Given the description of an element on the screen output the (x, y) to click on. 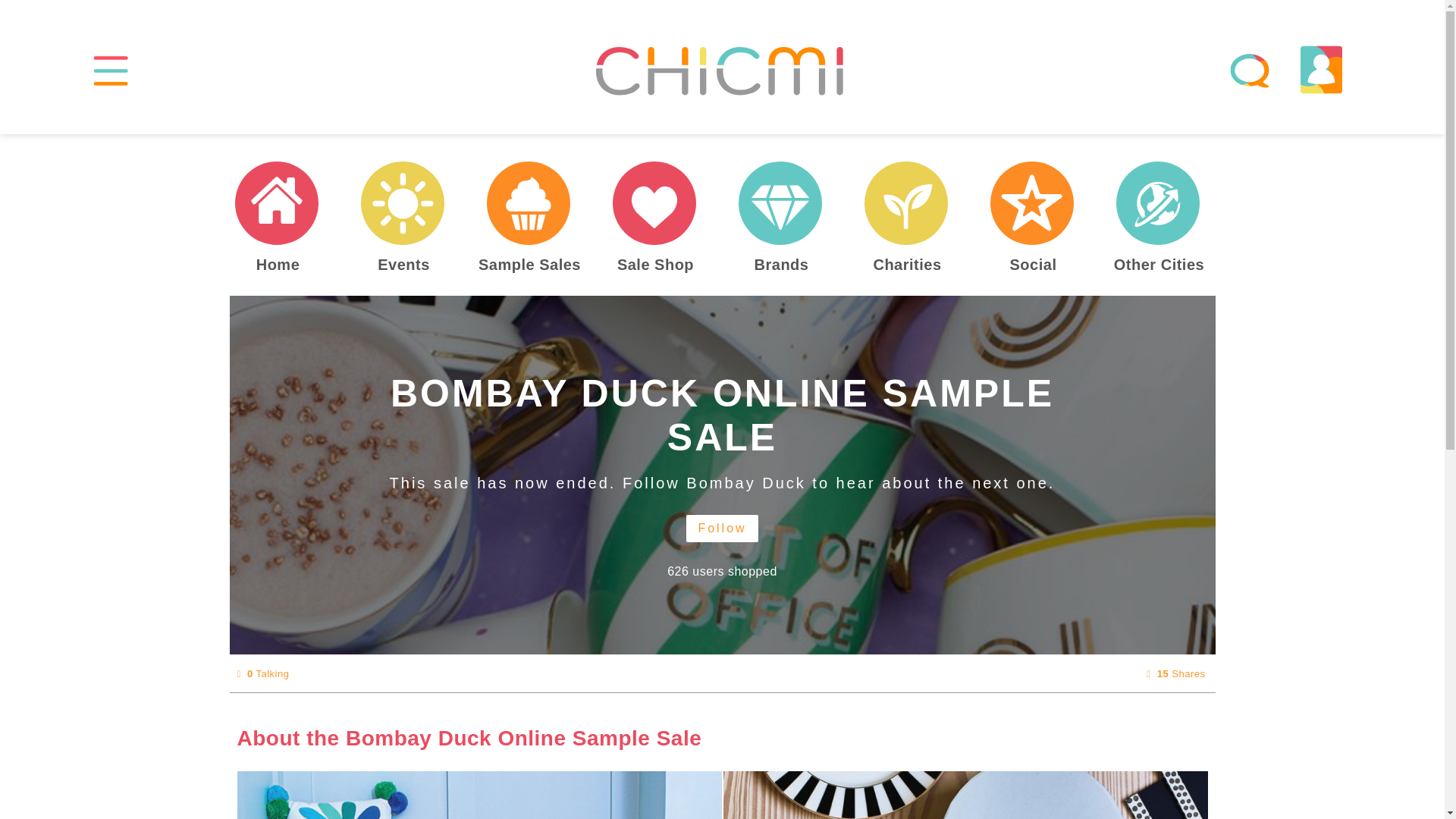
Sample Sales (529, 202)
Follow (721, 528)
Your CHICMI Chats (1249, 70)
Events (404, 265)
Charities (906, 202)
Social (1033, 265)
Brands (781, 265)
CHICMI main menu (110, 70)
Your Profile (1321, 70)
Chicmi Home (277, 202)
Other Cities (1158, 265)
Sample Sales (529, 265)
Home (277, 265)
